Given the description of an element on the screen output the (x, y) to click on. 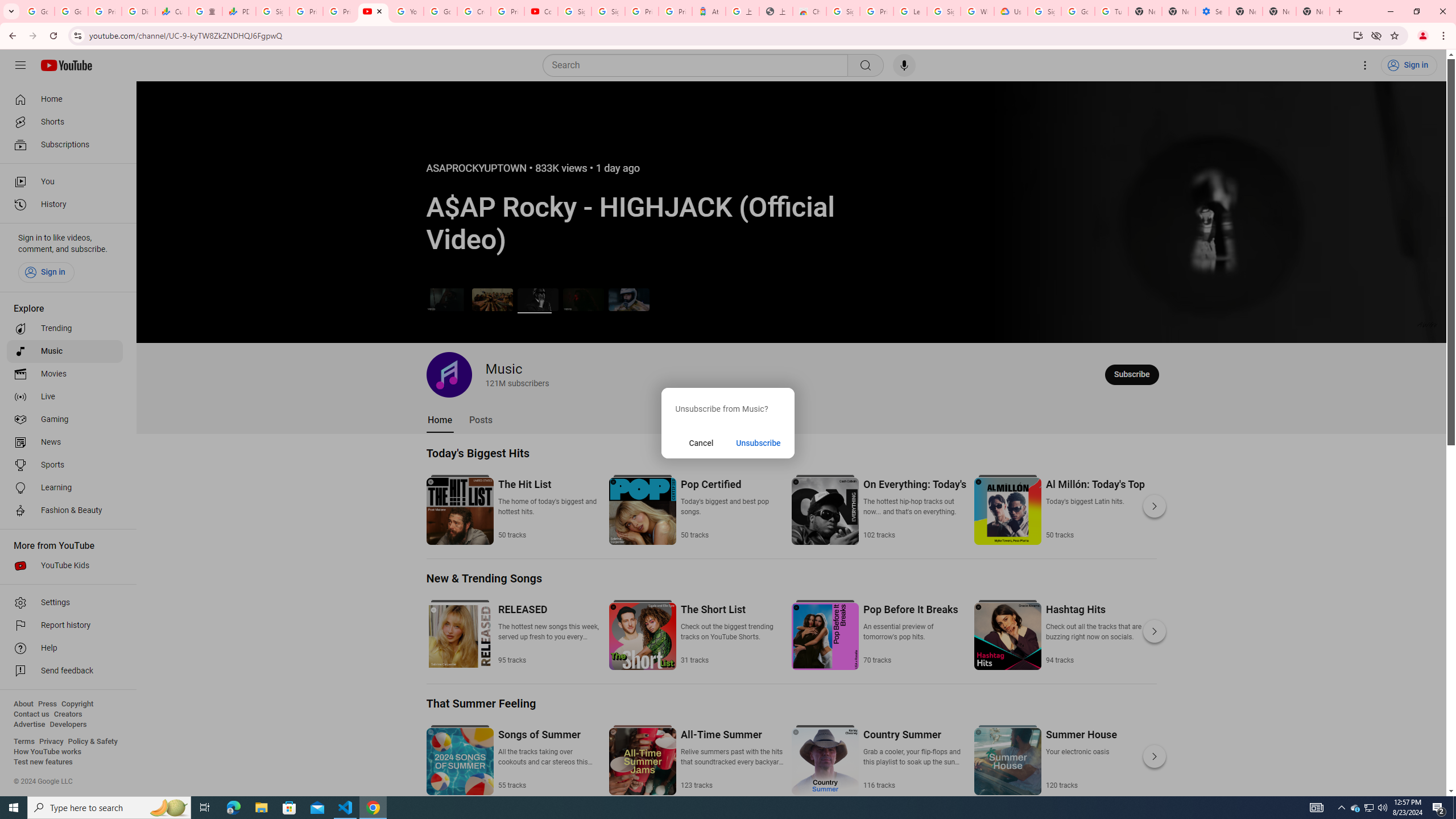
Music (64, 350)
Movies (64, 373)
Copyright (77, 703)
Turn cookies on or off - Computer - Google Account Help (1111, 11)
